Given the description of an element on the screen output the (x, y) to click on. 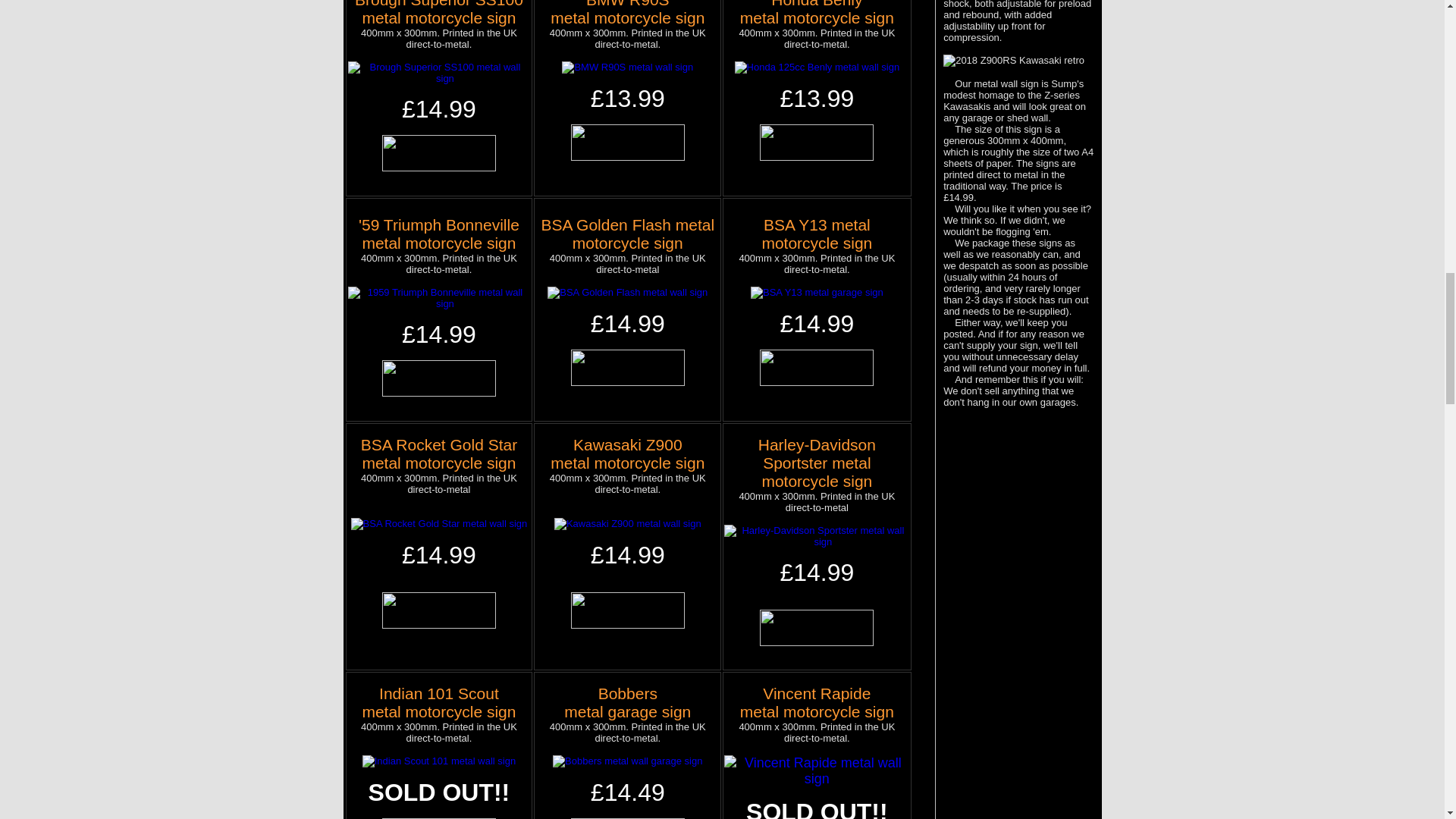
BSA Golden Flash metal motorcycle sign (438, 233)
